Given the description of an element on the screen output the (x, y) to click on. 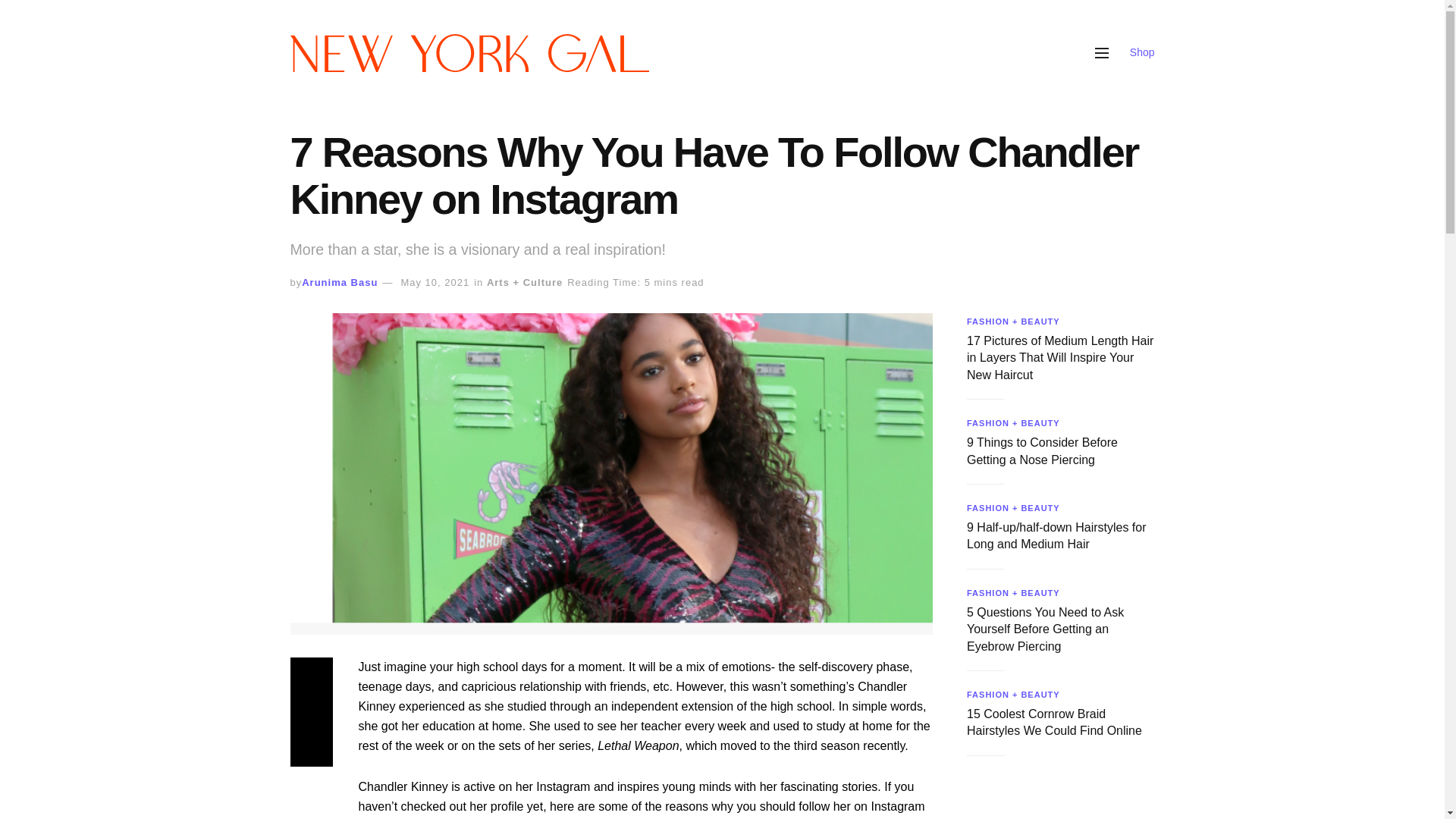
Shop (1141, 51)
May 10, 2021 (434, 282)
Arunima Basu (339, 282)
